Given the description of an element on the screen output the (x, y) to click on. 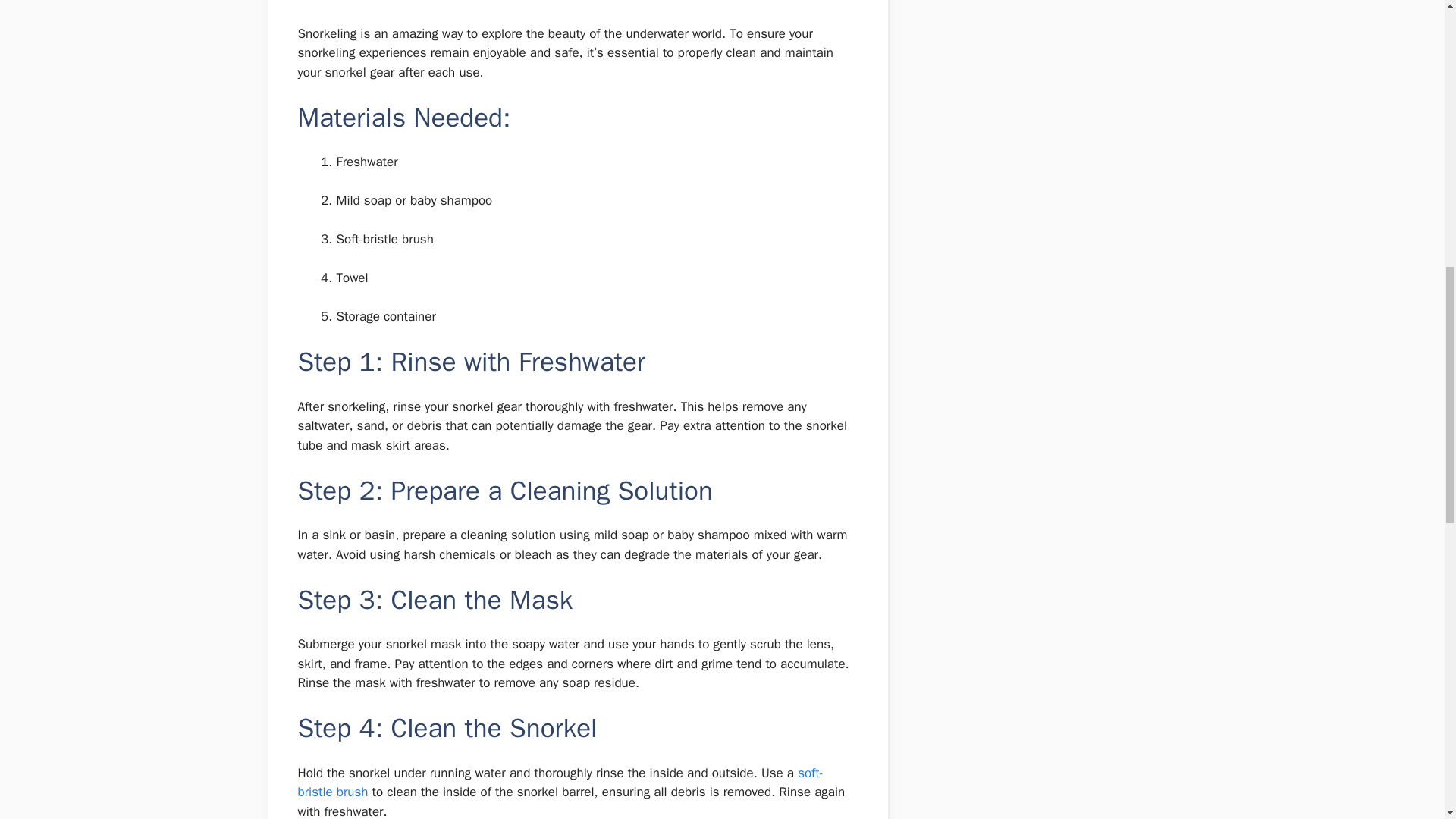
how to clean sandstone (559, 782)
soft-bristle brush (559, 782)
